Given the description of an element on the screen output the (x, y) to click on. 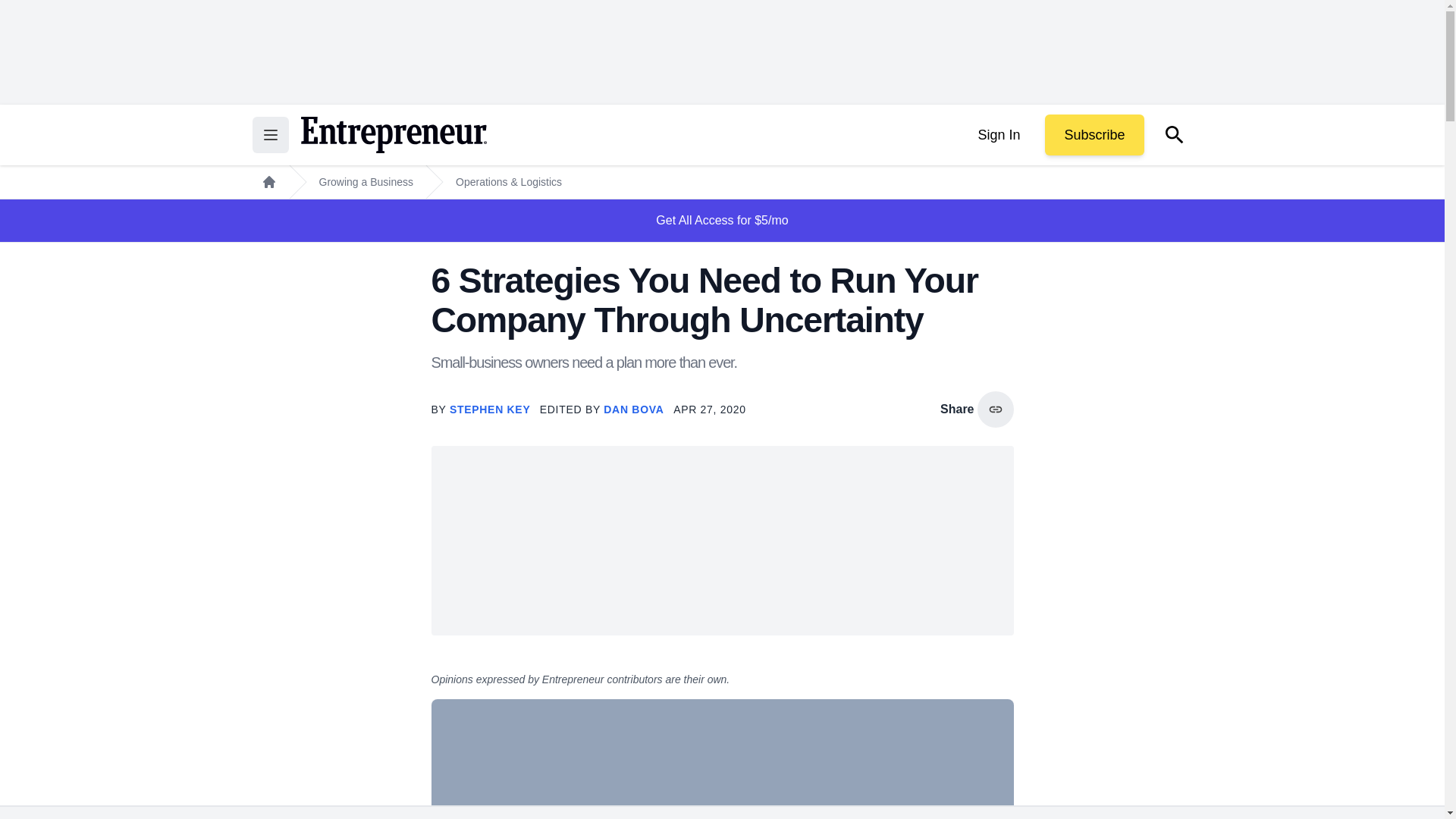
Return to the home page (392, 135)
Sign In (998, 134)
Subscribe (1093, 134)
copy (994, 409)
